Given the description of an element on the screen output the (x, y) to click on. 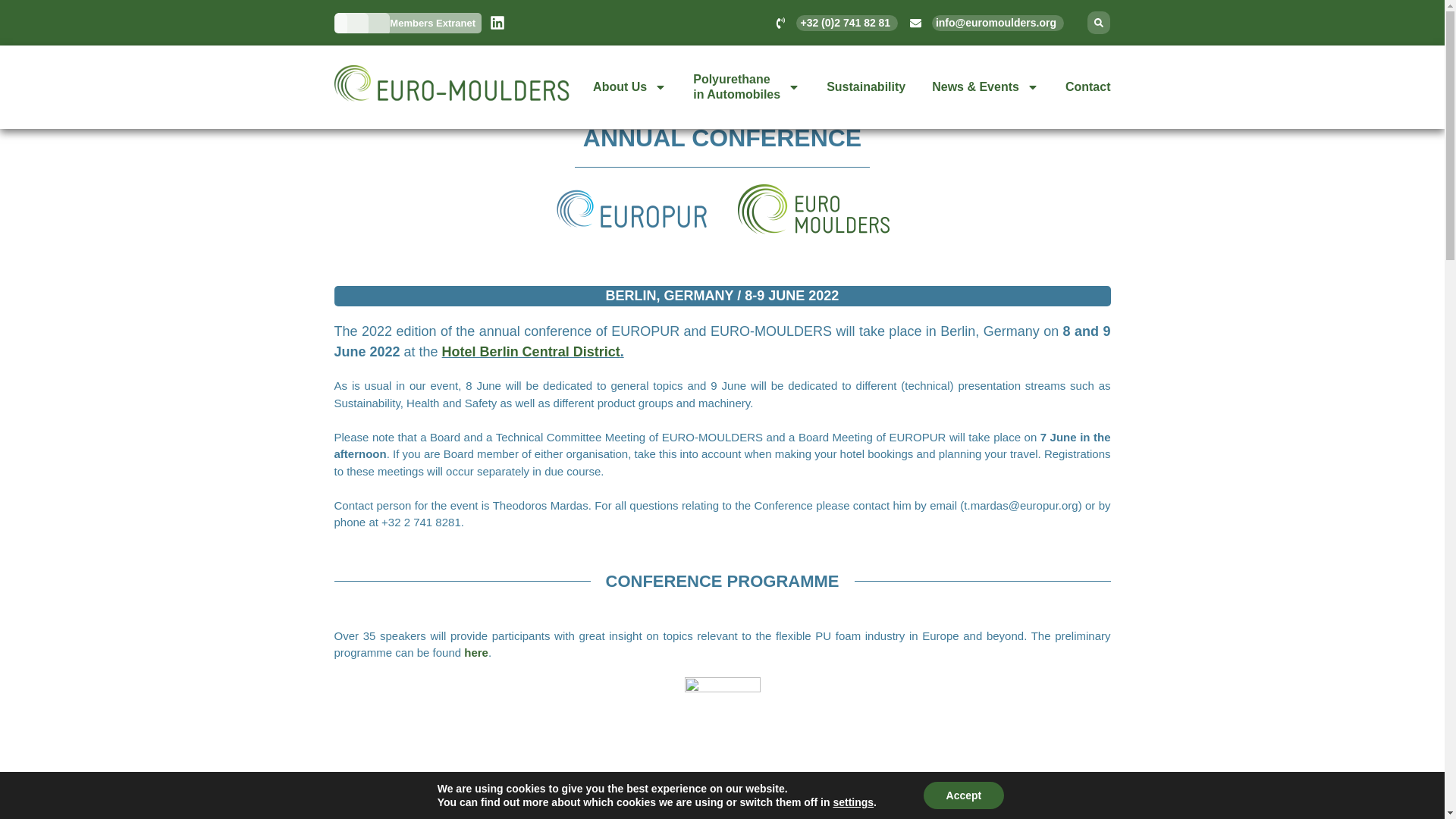
Sustainability (866, 86)
Members Extranet (430, 22)
DOW (746, 86)
